Given the description of an element on the screen output the (x, y) to click on. 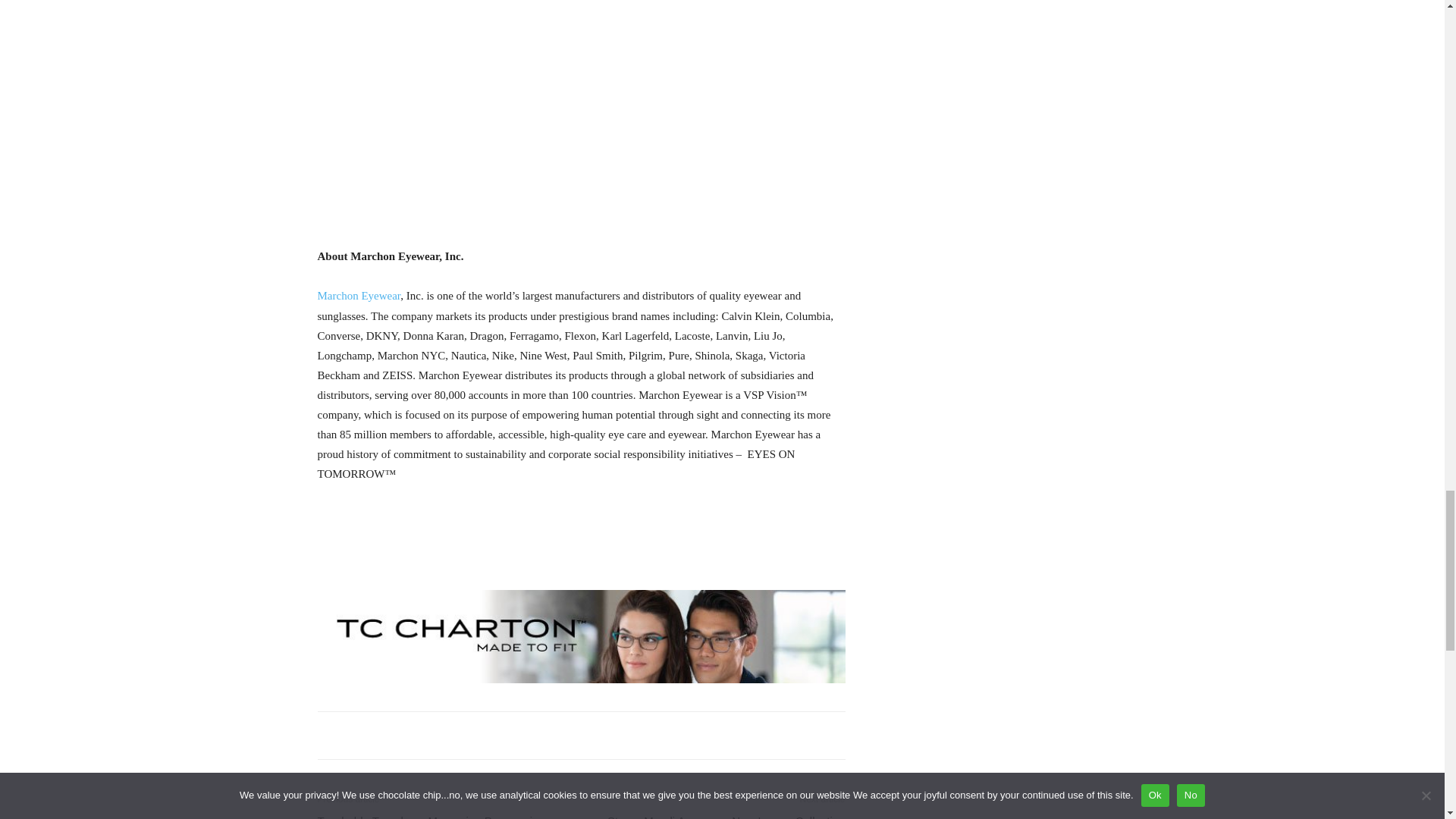
bottomFacebookLike (430, 735)
